Given the description of an element on the screen output the (x, y) to click on. 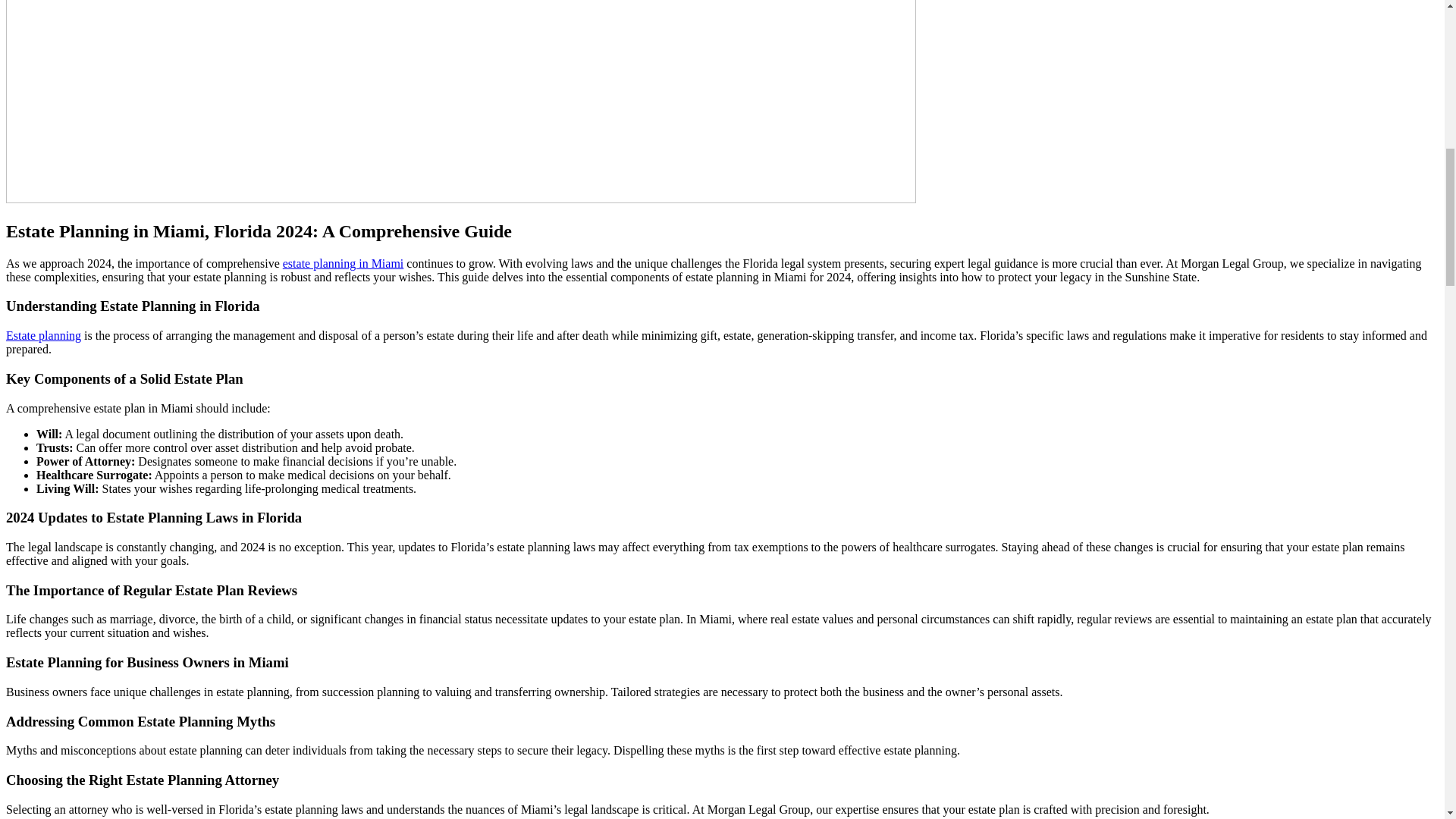
Estate planning (43, 335)
estate planning in Miami (343, 263)
